Given the description of an element on the screen output the (x, y) to click on. 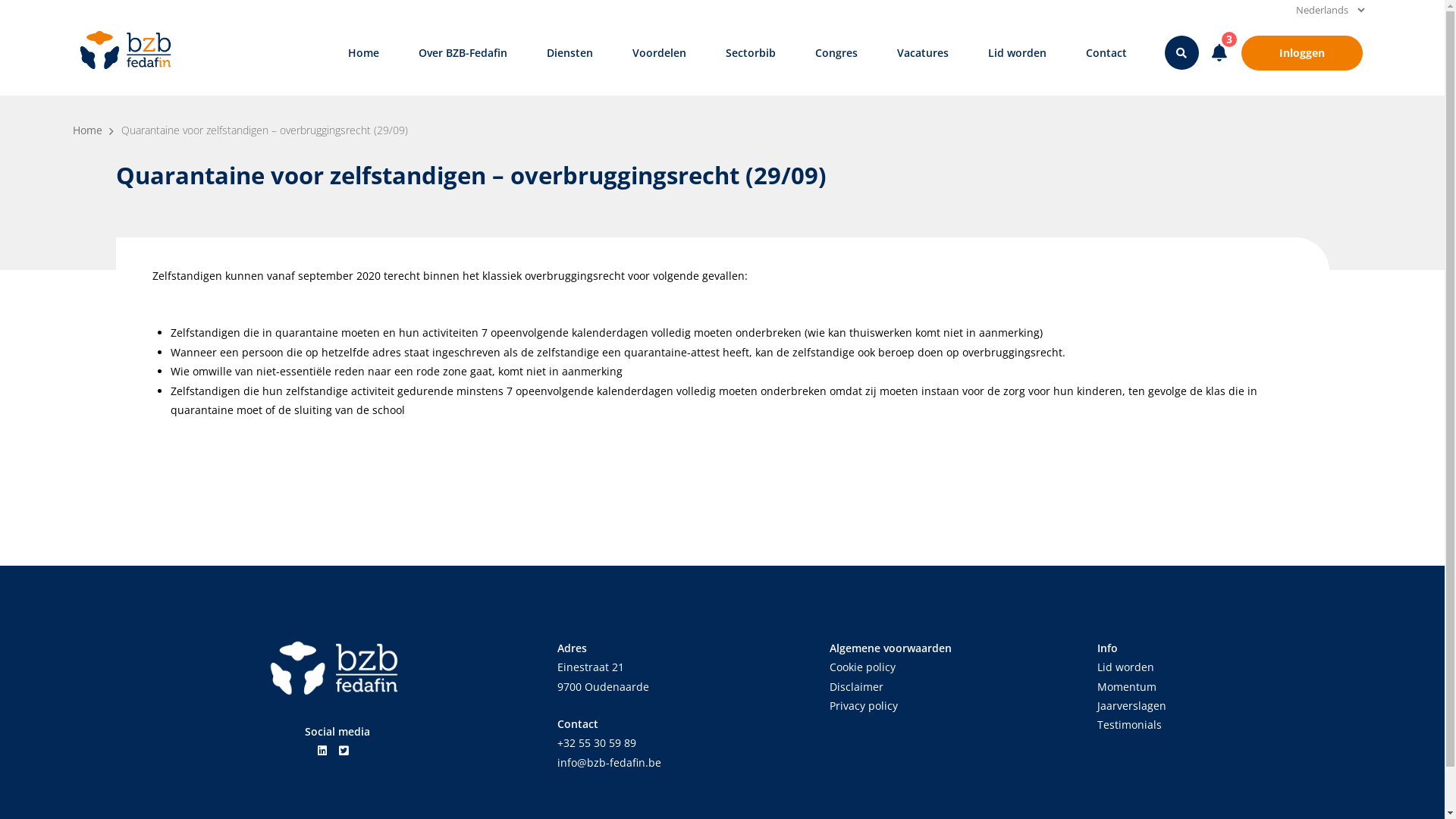
Inloggen Element type: text (1300, 52)
info@bzb-fedafin.be Element type: text (608, 762)
Contact Element type: text (1106, 52)
Home Element type: text (87, 129)
Diensten Element type: text (568, 52)
Home Element type: text (362, 52)
Disclaimer Element type: text (856, 686)
Congres Element type: text (835, 52)
Momentum Element type: text (1125, 686)
Sectorbib Element type: text (749, 52)
3 Element type: text (1219, 52)
Vacatures Element type: text (922, 52)
+32 55 30 59 89 Element type: text (595, 742)
Jaarverslagen Element type: text (1130, 705)
Voordelen Element type: text (659, 52)
Lid worden Element type: text (1016, 52)
Cookie policy Element type: text (862, 666)
Over BZB-Fedafin Element type: text (462, 52)
Testimonials Element type: text (1128, 724)
Privacy policy Element type: text (863, 705)
Lid worden Element type: text (1124, 666)
Overslaan en naar de inhoud gaan Element type: text (0, 0)
